Given the description of an element on the screen output the (x, y) to click on. 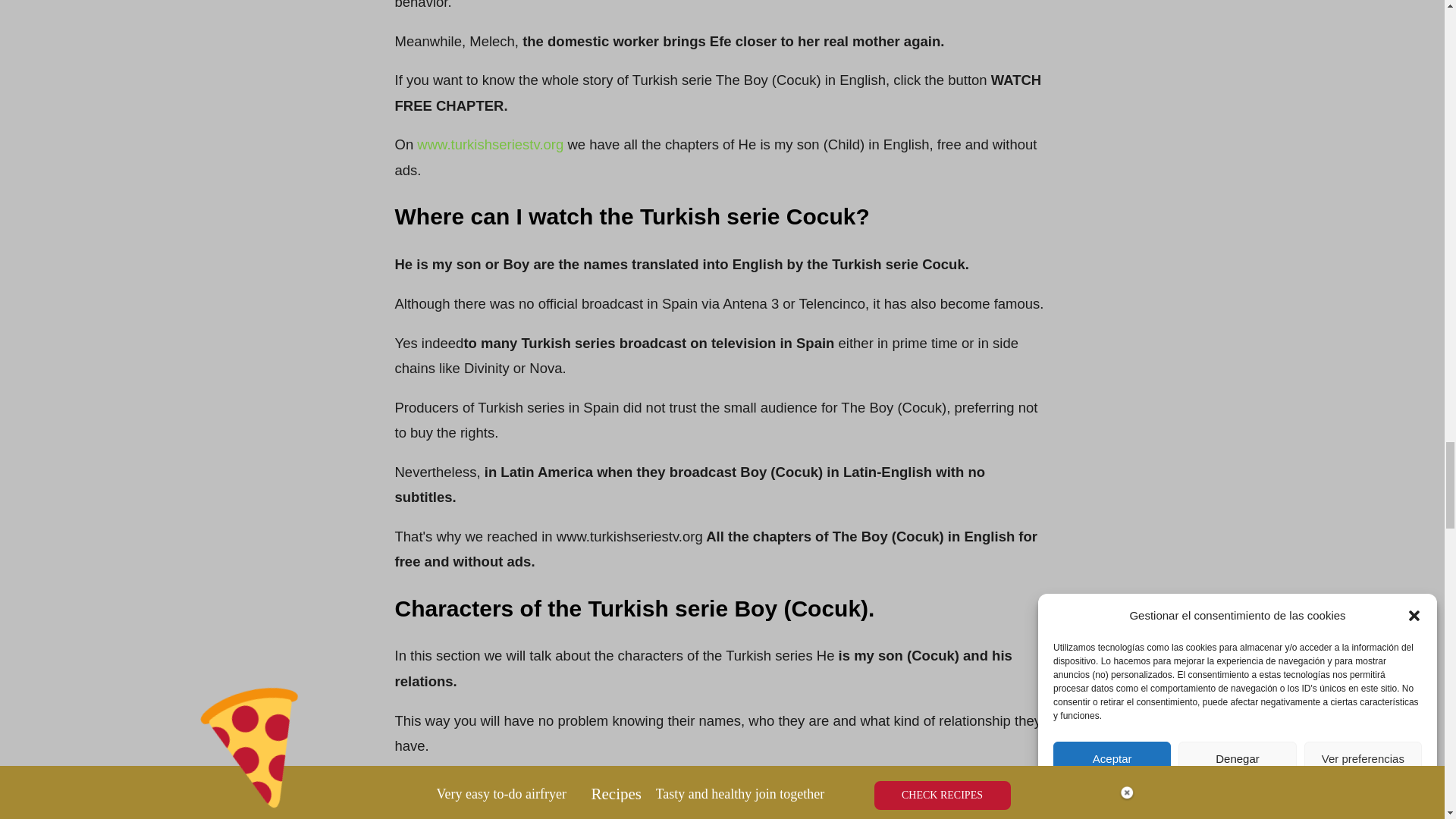
www.turkishseriestv.org (489, 144)
